Given the description of an element on the screen output the (x, y) to click on. 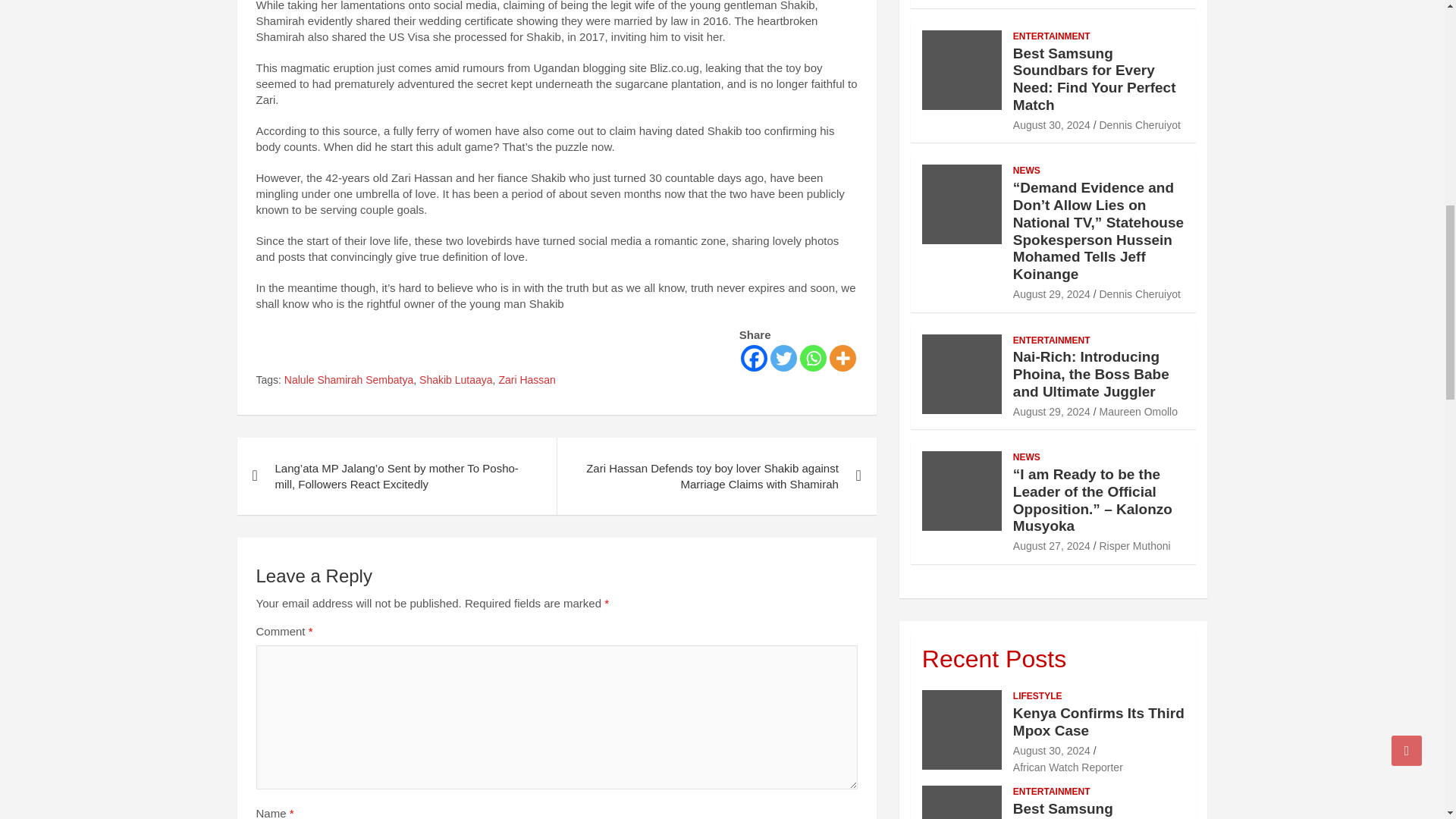
Whatsapp (813, 357)
Twitter (783, 357)
Shakib Lutaaya (456, 380)
Zari Hassan (525, 380)
Facebook (754, 357)
Nalule Shamirah Sembatya (348, 380)
More (842, 357)
